Given the description of an element on the screen output the (x, y) to click on. 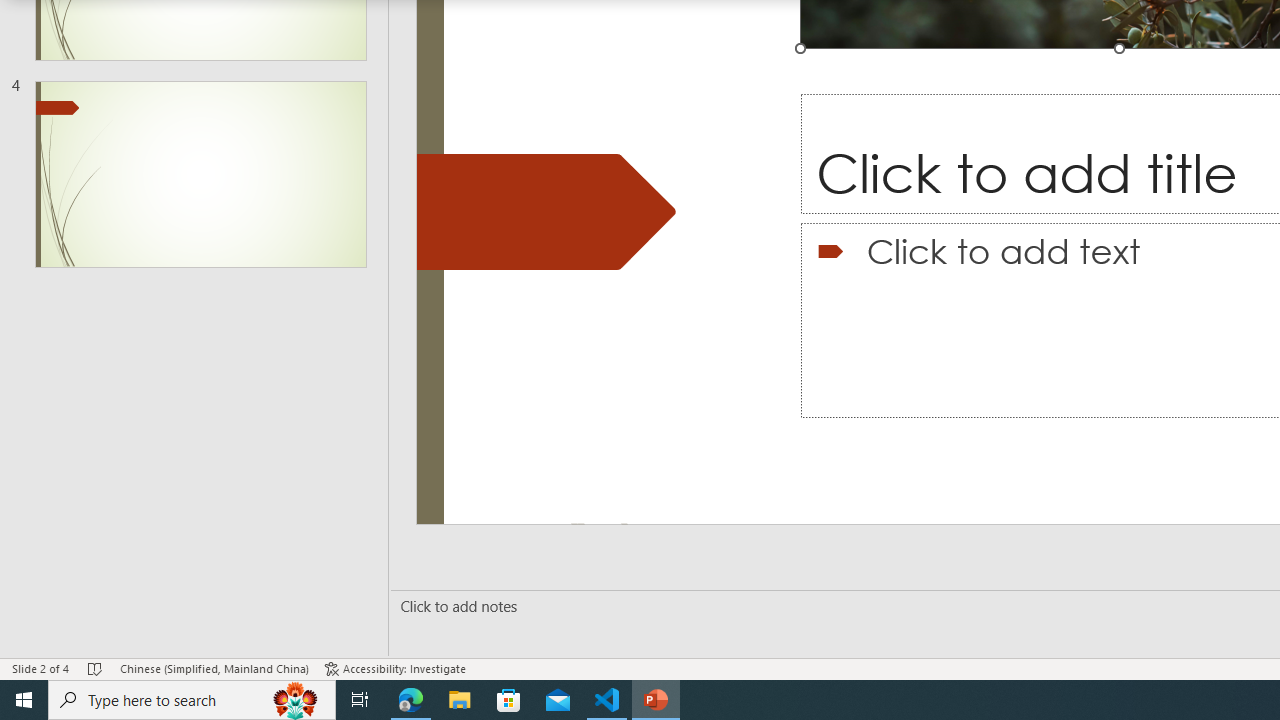
Decorative Locked (546, 212)
